Given the description of an element on the screen output the (x, y) to click on. 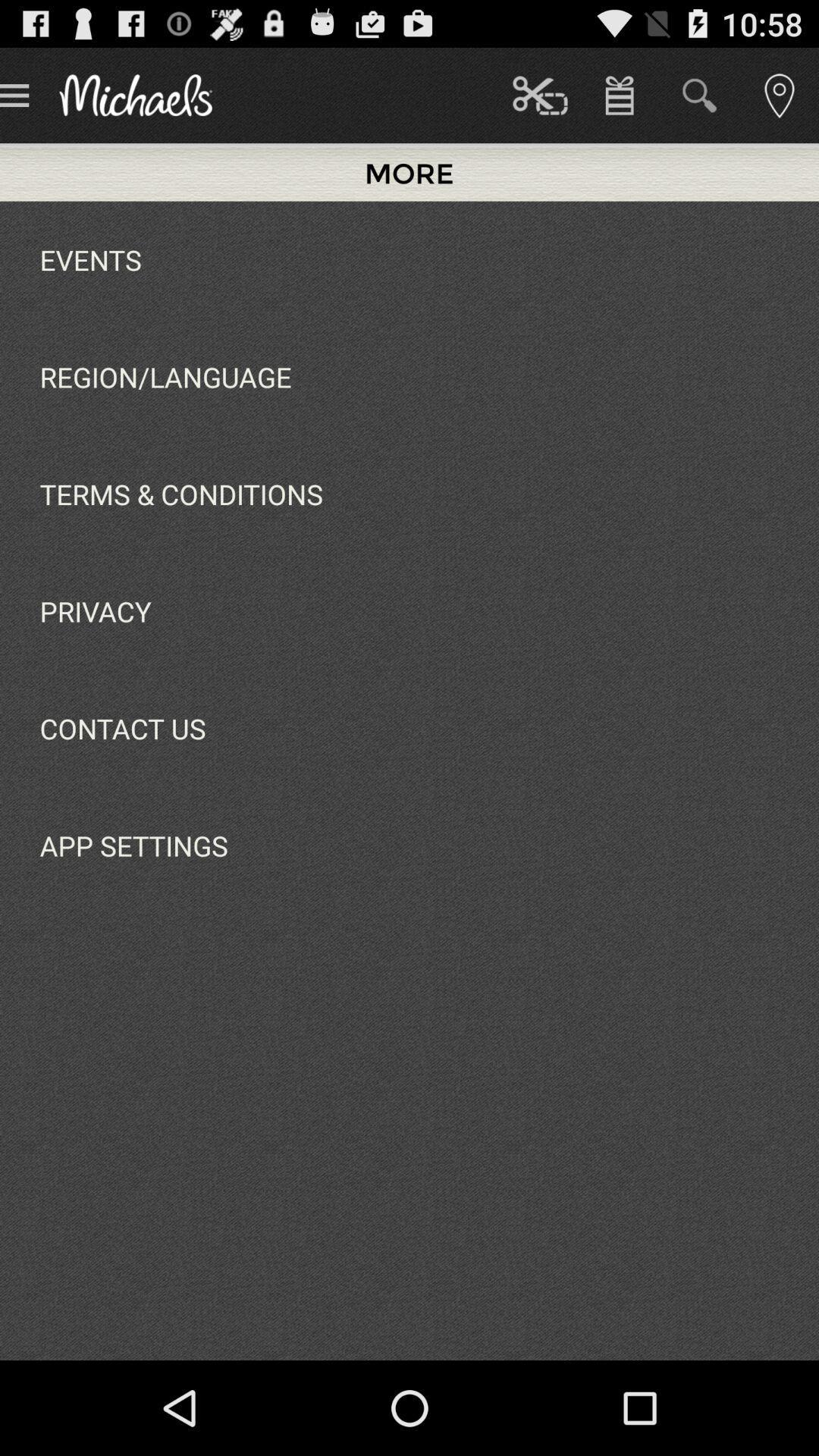
open events app (90, 259)
